Given the description of an element on the screen output the (x, y) to click on. 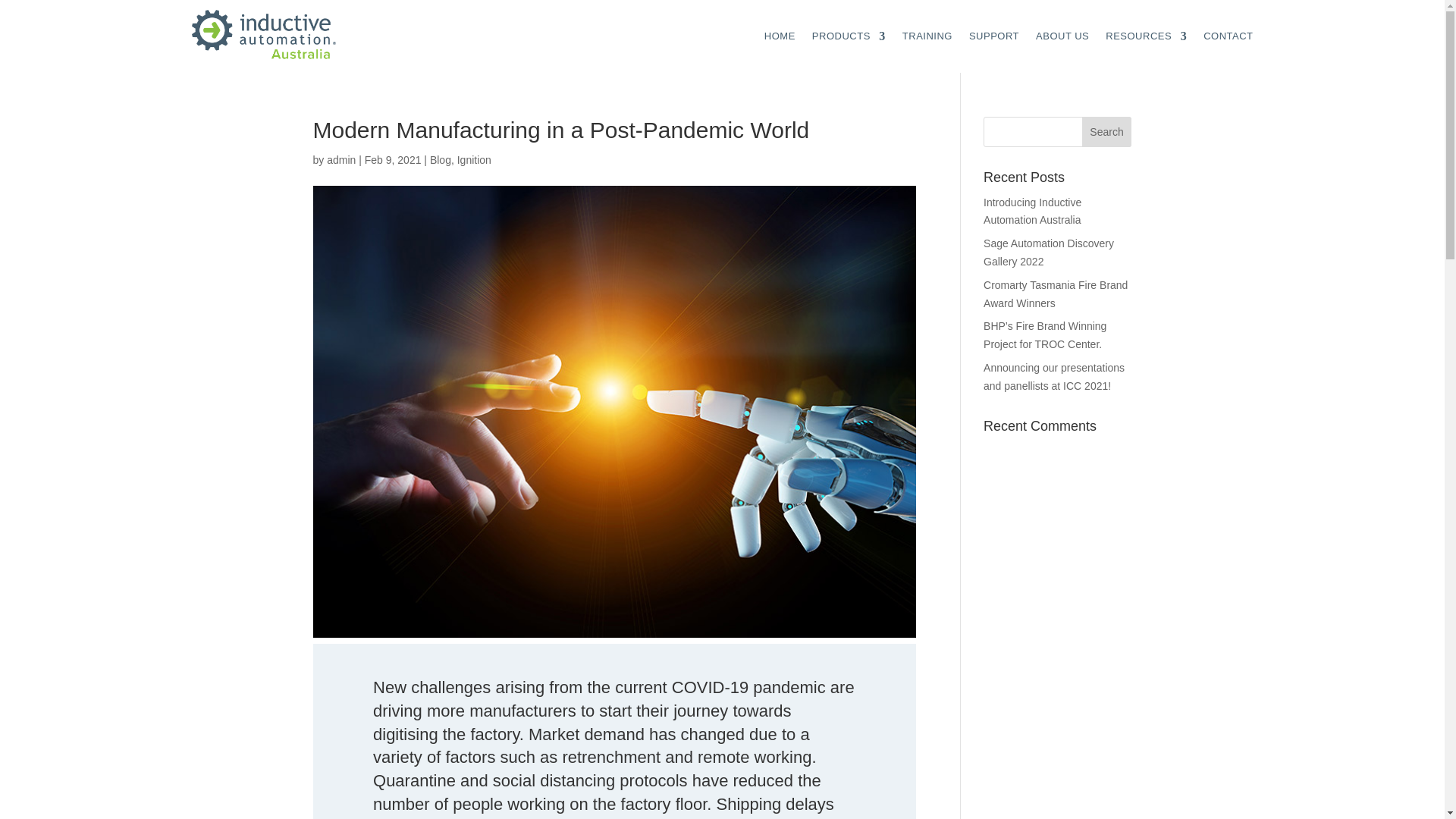
Announcing our presentations and panellists at ICC 2021! (1054, 376)
admin (340, 159)
Sage Automation Discovery Gallery 2022 (1048, 252)
Cromarty Tasmania Fire Brand Award Winners (1055, 294)
Search (1106, 132)
Ignition (474, 159)
ABOUT US (1062, 36)
Introducing Inductive Automation Australia (1032, 211)
Search (1106, 132)
PRODUCTS (848, 36)
Blog (440, 159)
Posts by admin (340, 159)
RESOURCES (1145, 36)
